Given the description of an element on the screen output the (x, y) to click on. 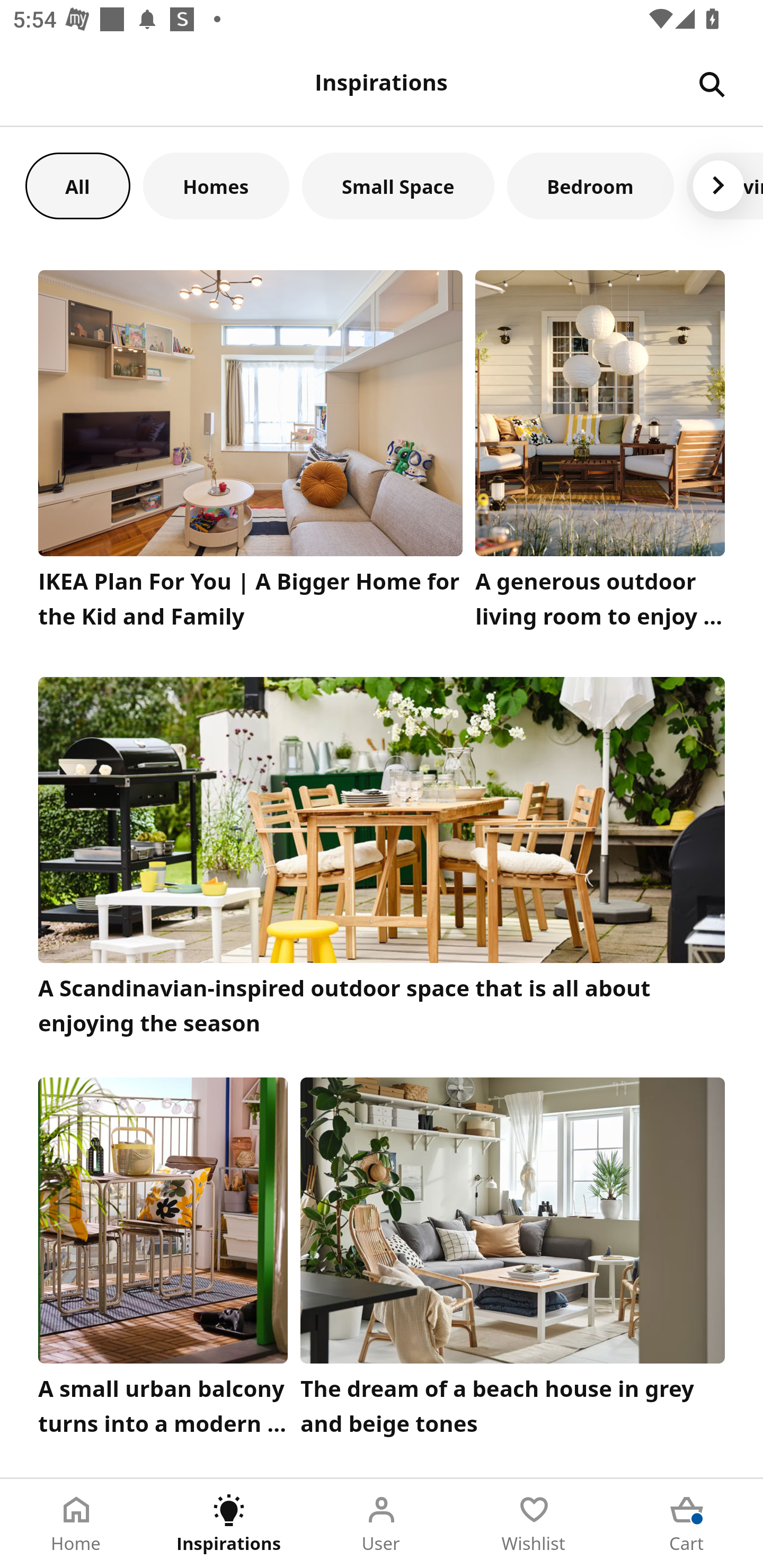
All (77, 185)
Homes (216, 185)
Small Space (398, 185)
Bedroom (590, 185)
The dream of a beach house in grey and beige tones (512, 1261)
Home
Tab 1 of 5 (76, 1522)
Inspirations
Tab 2 of 5 (228, 1522)
User
Tab 3 of 5 (381, 1522)
Wishlist
Tab 4 of 5 (533, 1522)
Cart
Tab 5 of 5 (686, 1522)
